Given the description of an element on the screen output the (x, y) to click on. 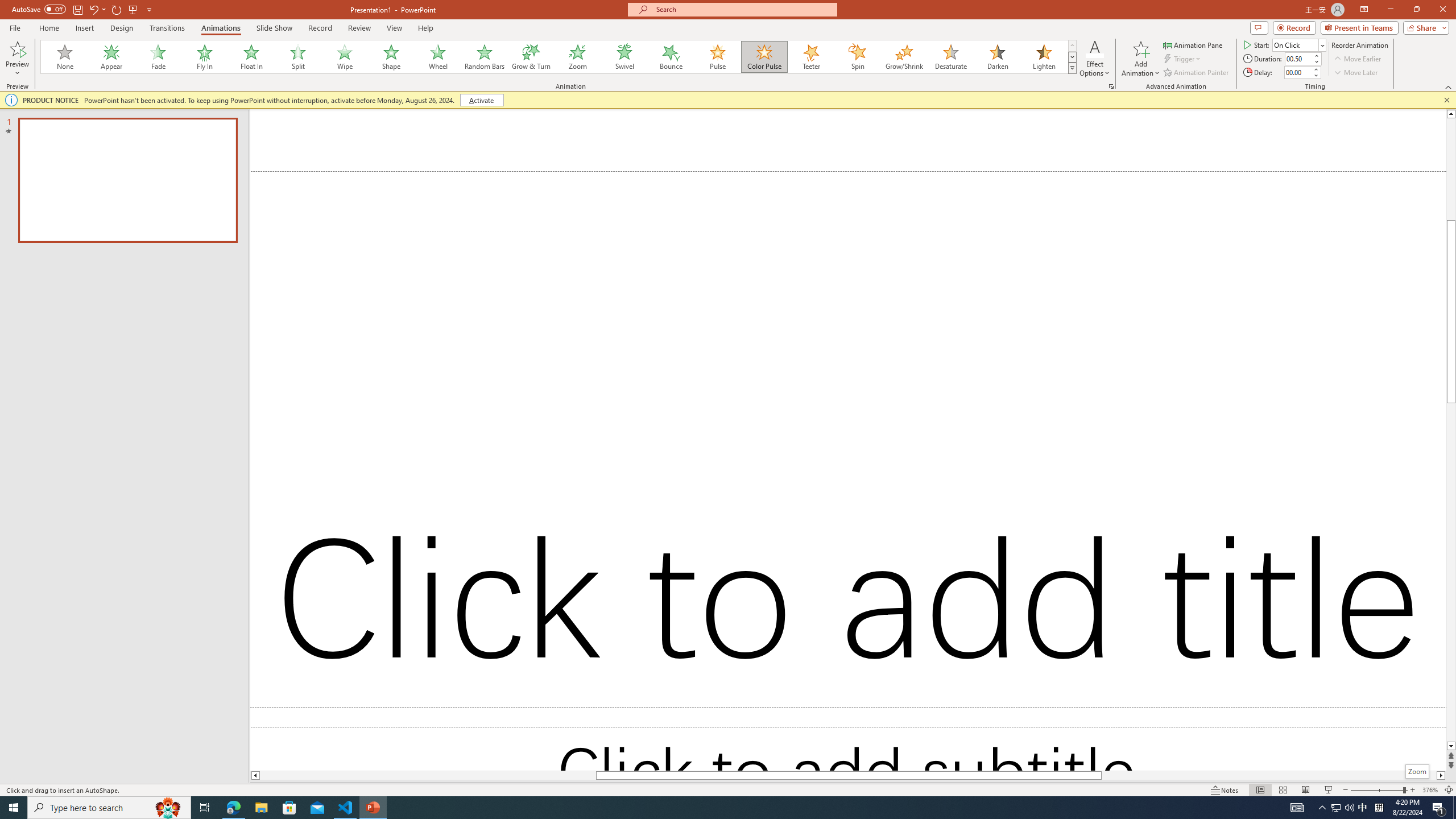
AutomationID: AnimationGallery (558, 56)
Grow/Shrink (903, 56)
Fade (158, 56)
Pulse (717, 56)
Less (1315, 75)
Preview (17, 48)
Zoom 376% (1430, 790)
Effect Options (1094, 58)
Animation Styles (1071, 67)
Desaturate (950, 56)
Split (298, 56)
